Given the description of an element on the screen output the (x, y) to click on. 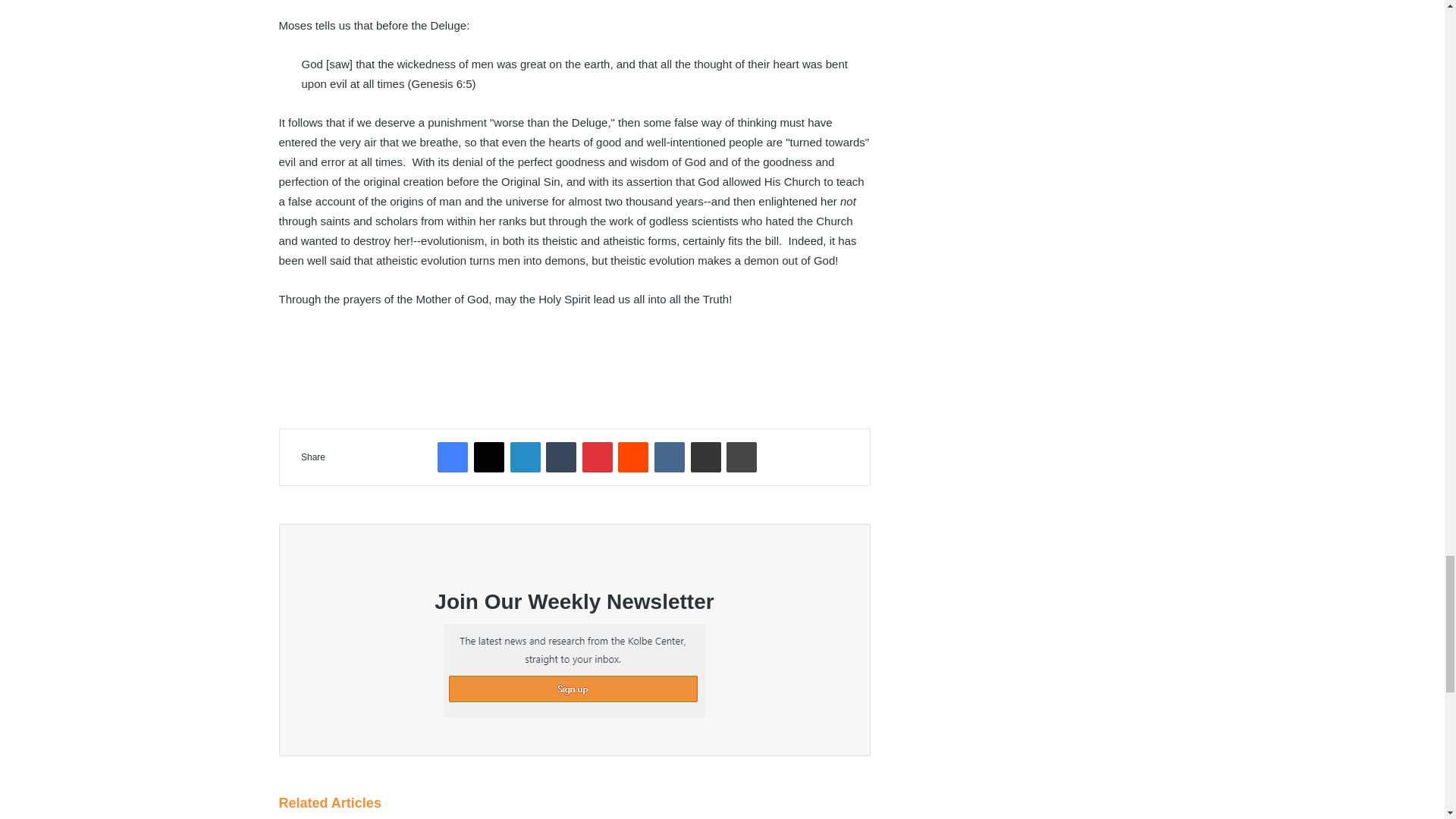
Reddit (632, 457)
Tumblr (561, 457)
LinkedIn (524, 457)
VKontakte (668, 457)
X (488, 457)
Facebook (452, 457)
Pinterest (597, 457)
